Given the description of an element on the screen output the (x, y) to click on. 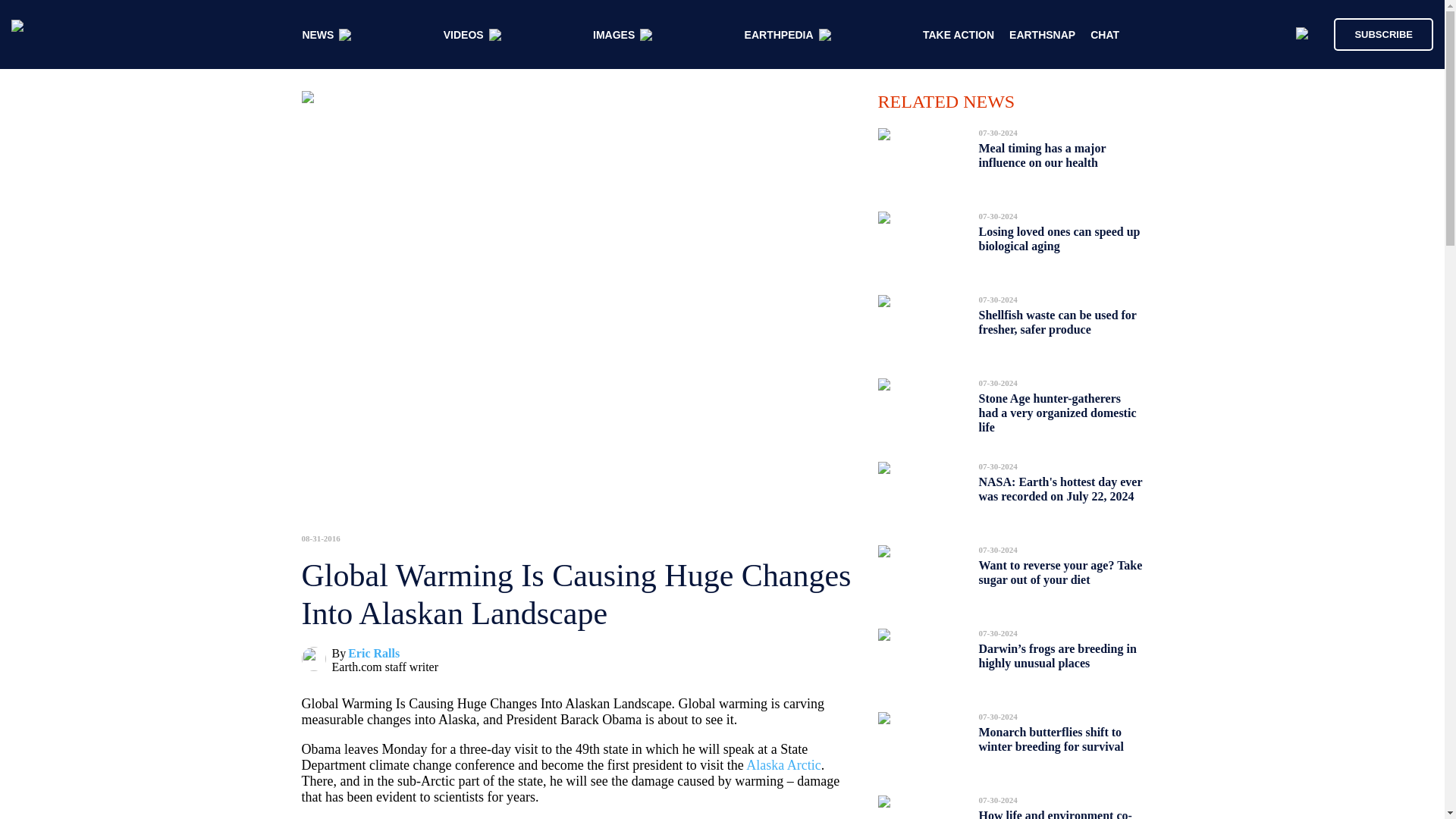
Alaska Arctic (783, 765)
Monarch butterflies shift to winter breeding for survival (1051, 739)
Losing loved ones can speed up biological aging (1059, 238)
Shellfish waste can be used for fresher, safer produce (1056, 322)
Want to reverse your age? Take sugar out of your diet  (1059, 572)
Meal timing has a major influence on our health (1041, 155)
NASA: Earth's hottest day ever was recorded on July 22, 2024 (1059, 488)
TAKE ACTION (958, 34)
SUBSCRIBE (1382, 34)
Eric Ralls (372, 653)
EARTHSNAP (1042, 34)
CHAT (1104, 34)
How life and environment co-evolved over 500 million years (1056, 810)
SUBSCRIBE (1375, 33)
